Given the description of an element on the screen output the (x, y) to click on. 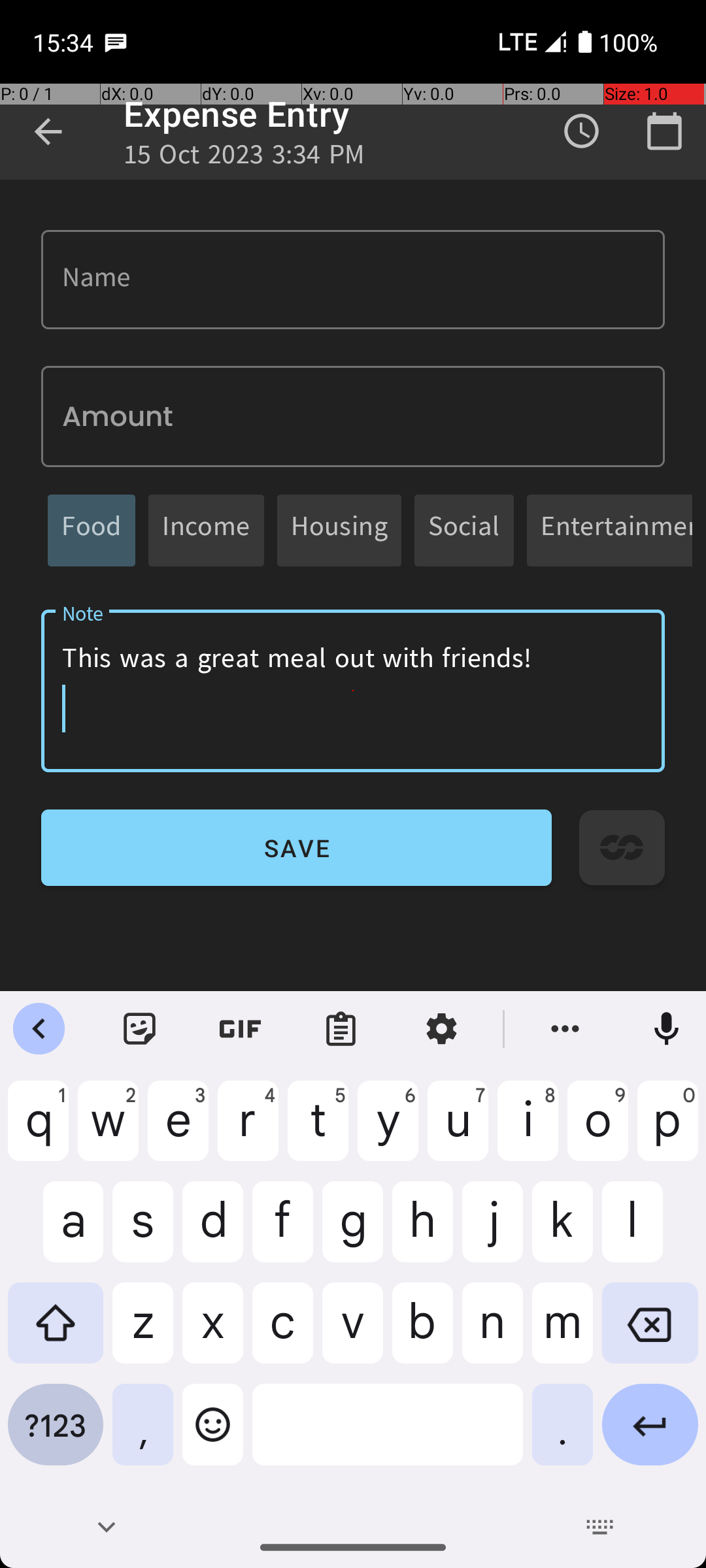
This was a great meal out with friends!
 Element type: android.widget.EditText (352, 690)
